Given the description of an element on the screen output the (x, y) to click on. 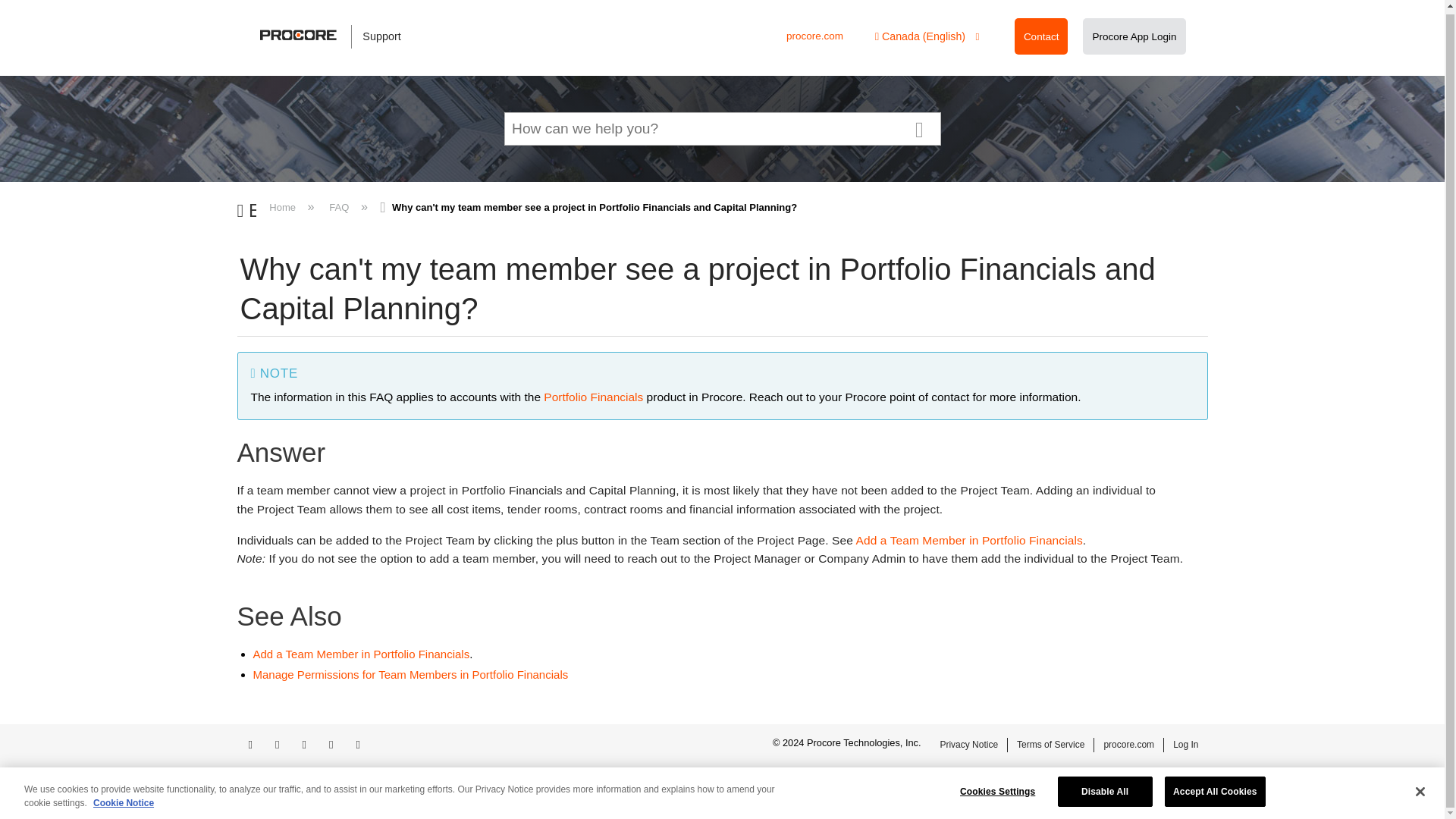
Contact (1041, 36)
Add a Team Member in Portfolio Financials (361, 653)
Procore App Login (1134, 36)
Portfolio Financials (593, 396)
Live Chat (1229, 798)
Home (283, 206)
FAQ (339, 206)
procore.com (814, 35)
Add a Team Member in Portfolio Financials (969, 540)
Manage Permissions for Team Members in Portfolio Financials (411, 674)
Support (338, 35)
Add a Team Member in Portfolio Financials (361, 653)
Manage Permissions for Team Members in Portfolio Financials (411, 674)
Add a Team Member in Portfolio Financials (969, 540)
